Given the description of an element on the screen output the (x, y) to click on. 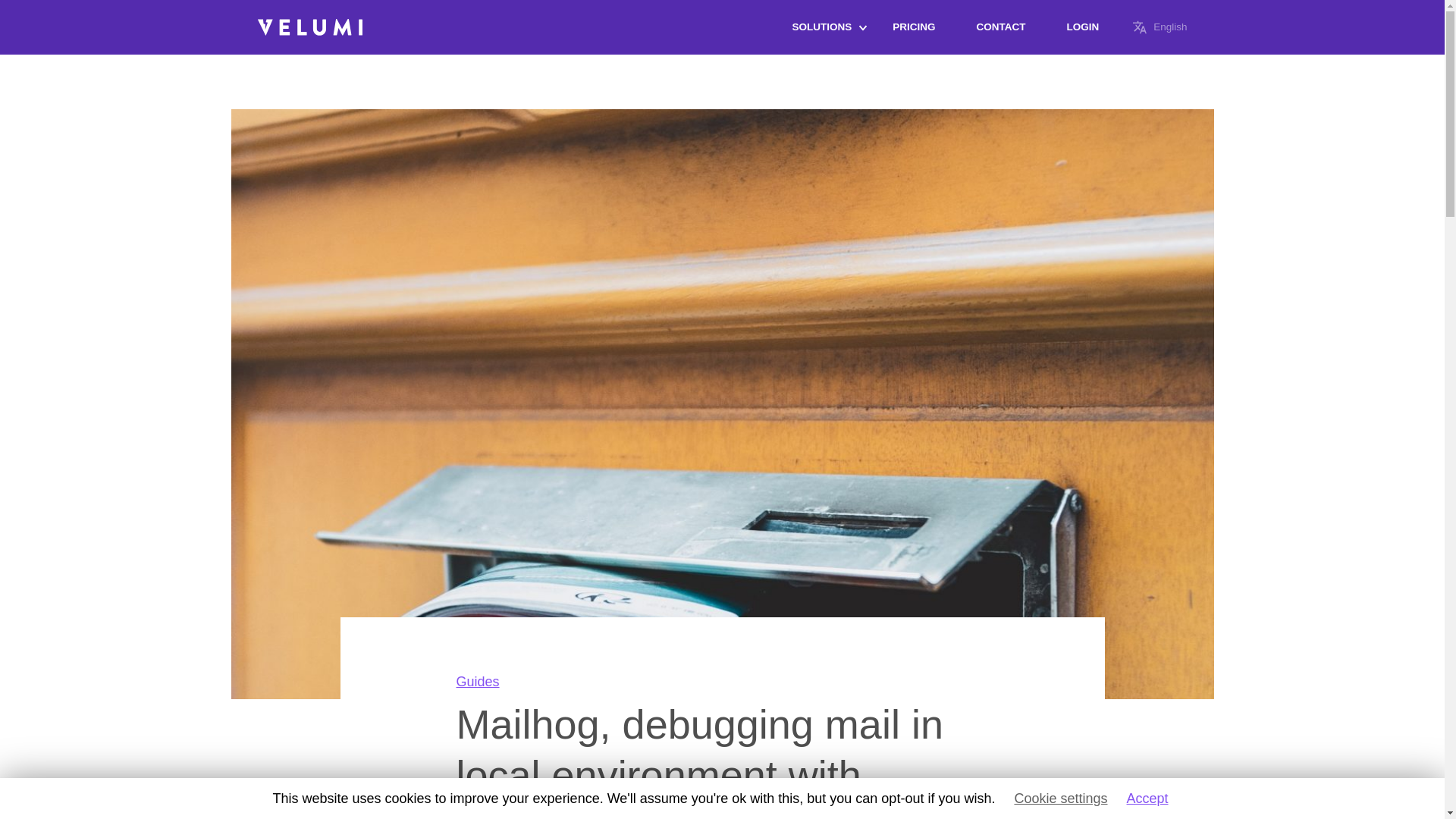
PRICING (913, 27)
SOLUTIONS (821, 27)
LOGIN (1082, 27)
Guides (478, 681)
CONTACT (1000, 27)
